Given the description of an element on the screen output the (x, y) to click on. 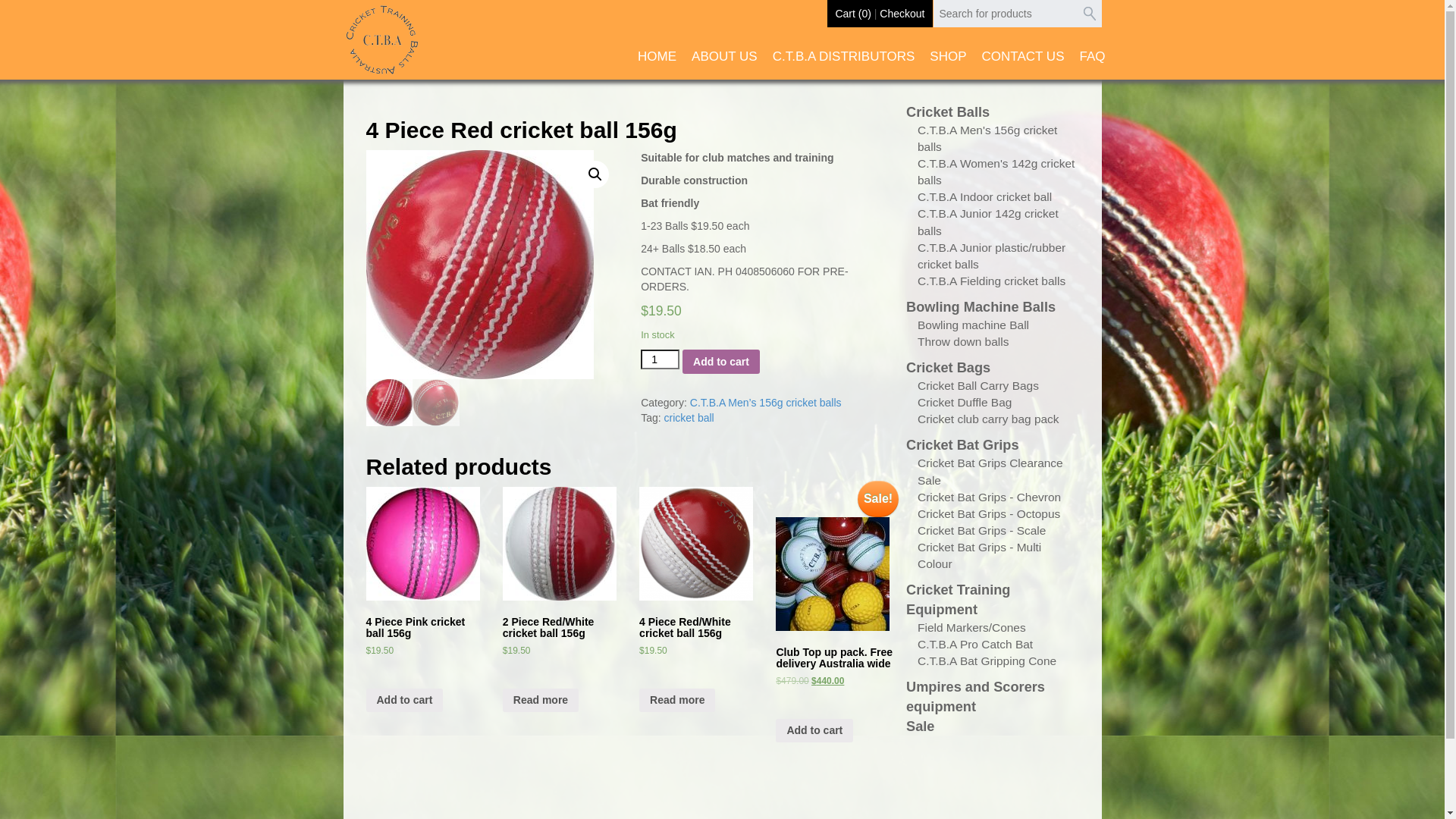
Cricket Bat Grips - Scale Element type: text (981, 530)
C.T.B.A Junior plastic/rubber cricket balls Element type: text (991, 255)
cricket ball Element type: text (689, 417)
Cricket Bags Element type: text (948, 367)
Add to cart Element type: text (403, 700)
4 Piece Pink cricket ball 156g Element type: text (423, 565)
CONTACT US Element type: text (1023, 64)
Read more Element type: text (677, 700)
Cricket Ball Carry Bags Element type: text (977, 385)
Qty Element type: hover (659, 359)
HOME Element type: text (656, 64)
C.T.B.A Women's 142g cricket balls Element type: text (995, 171)
Cart (0) Element type: text (852, 13)
Field Markers/Cones Element type: text (971, 627)
Cricket club carry bag pack Element type: text (988, 418)
C.T.B.A Junior 142g cricket balls Element type: text (987, 221)
FAQ Element type: text (1091, 64)
Cricket Bat Grips - Octopus Element type: text (988, 513)
Cricket Bat Grips Element type: text (962, 444)
Cricket Bat Grips Clearance Sale Element type: text (990, 471)
Add to cart Element type: text (720, 361)
2 Piece Red/White cricket ball 156g Element type: text (560, 565)
$19.50 Element type: text (423, 659)
Sale Element type: text (920, 726)
ctba cricket ball Element type: hover (479, 264)
Cricket Balls Element type: text (947, 111)
4 Piece Red/White cricket ball 156g Element type: text (697, 565)
Throw down balls Element type: text (962, 341)
$19.50 Element type: text (560, 659)
$479.00 $440.00 Element type: text (833, 690)
$19.50 Element type: text (697, 659)
Cricket Duffle Bag Element type: text (964, 401)
C.T.B.A Men's 156g cricket balls Element type: text (987, 138)
C.T.B.A Fielding cricket balls Element type: text (991, 280)
Add to cart Element type: text (814, 730)
SHOP Element type: text (947, 64)
Bowling machine Ball Element type: text (973, 324)
Checkout Element type: text (901, 13)
C.T.B.A Indoor cricket ball Element type: text (984, 196)
C.T.B.A Pro Catch Bat Element type: text (974, 643)
Read more Element type: text (540, 700)
Bowling Machine Balls Element type: text (980, 306)
ABOUT US Element type: text (724, 64)
Cricket Bat Grips - Chevron Element type: text (988, 496)
Cricket Bat Grips - Multi Colour Element type: text (979, 555)
Umpires and Scorers equipment Element type: text (975, 696)
C.T.B.A DISTRIBUTORS Element type: text (843, 64)
C.T.B.A Bat Gripping Cone Element type: text (986, 660)
Cricket Training Equipment Element type: text (958, 599)
Sale!

Club Top up pack. Free delivery Australia wide Element type: text (833, 610)
